Given the description of an element on the screen output the (x, y) to click on. 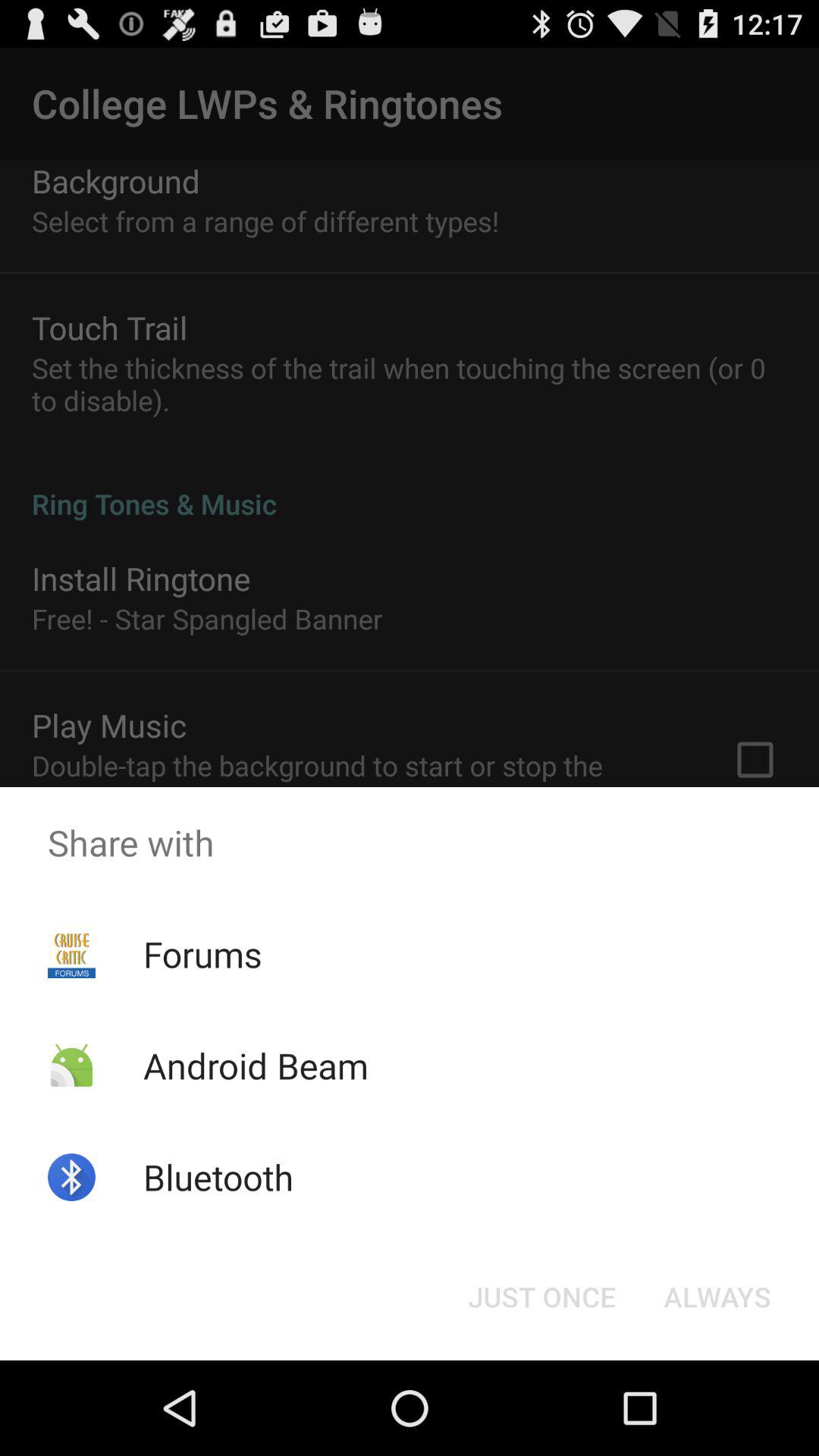
tap icon next to the just once (717, 1296)
